Given the description of an element on the screen output the (x, y) to click on. 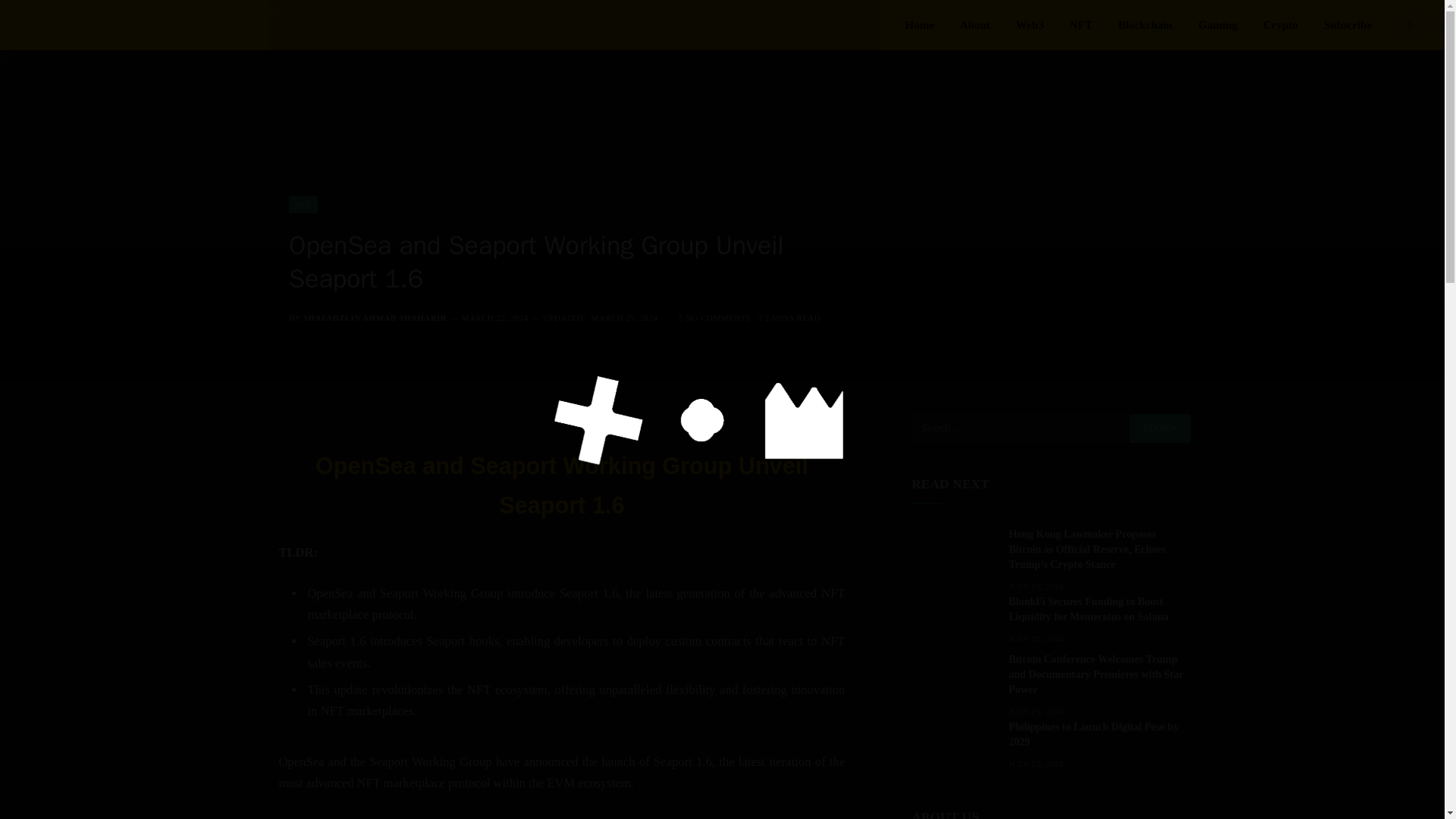
NO COMMENTS (714, 317)
Facebook (1409, 24)
XGA Academy (573, 24)
Posts by Shafadzlin Ahmad Shaharir (374, 317)
Gaming (1217, 24)
NFT (302, 204)
Home (918, 24)
SHAFADZLIN AHMAD SHAHARIR (374, 317)
Web3 (1030, 24)
NFT (1081, 24)
Twitter (1442, 24)
Blockchain (1145, 24)
Crypto (1280, 24)
Search (1160, 428)
